Given the description of an element on the screen output the (x, y) to click on. 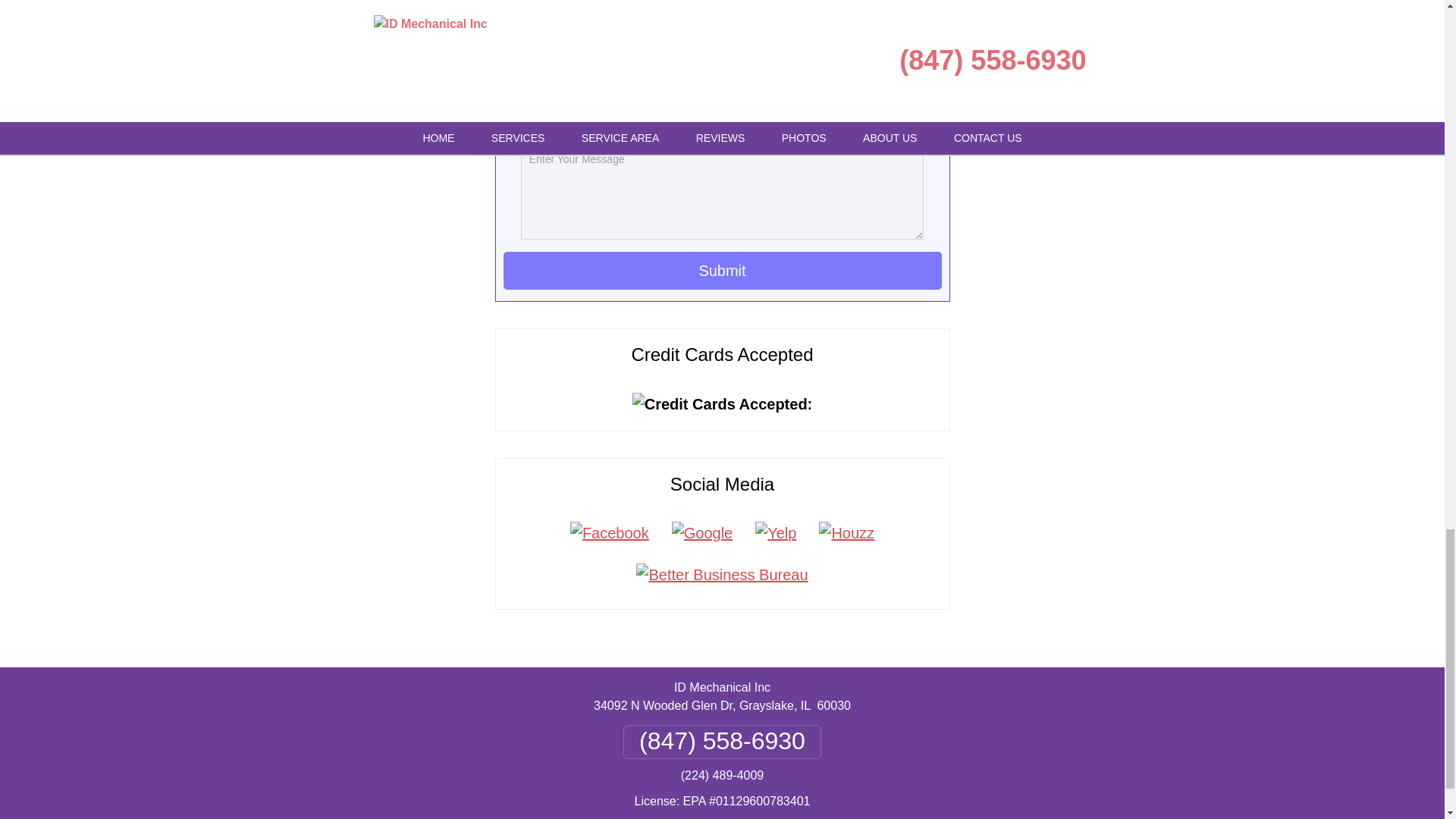
Houzz (846, 532)
Google (702, 532)
Facebook (610, 532)
Yelp (776, 532)
Better Business Bureau (721, 574)
